Given the description of an element on the screen output the (x, y) to click on. 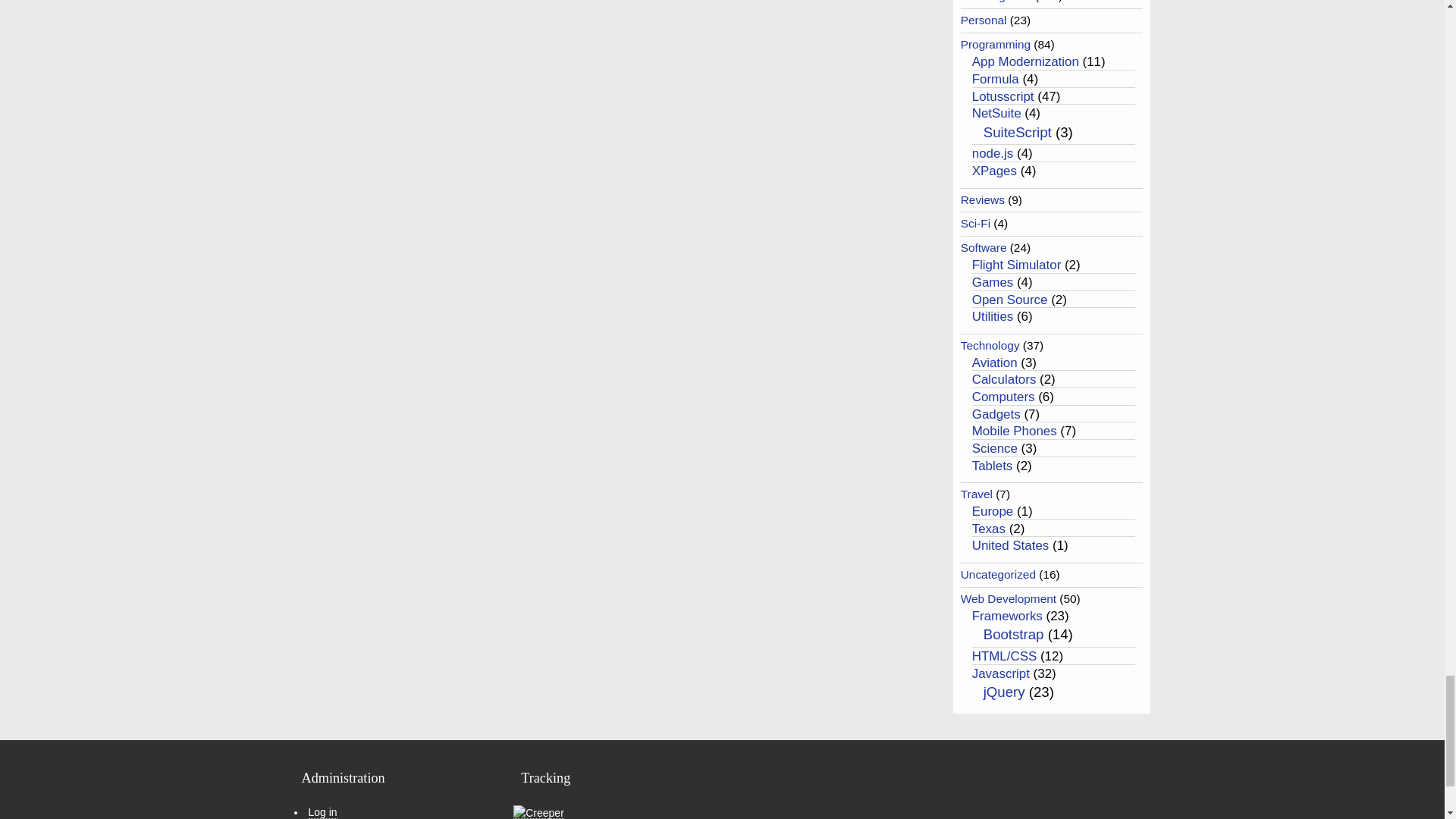
Creeper (538, 812)
